Given the description of an element on the screen output the (x, y) to click on. 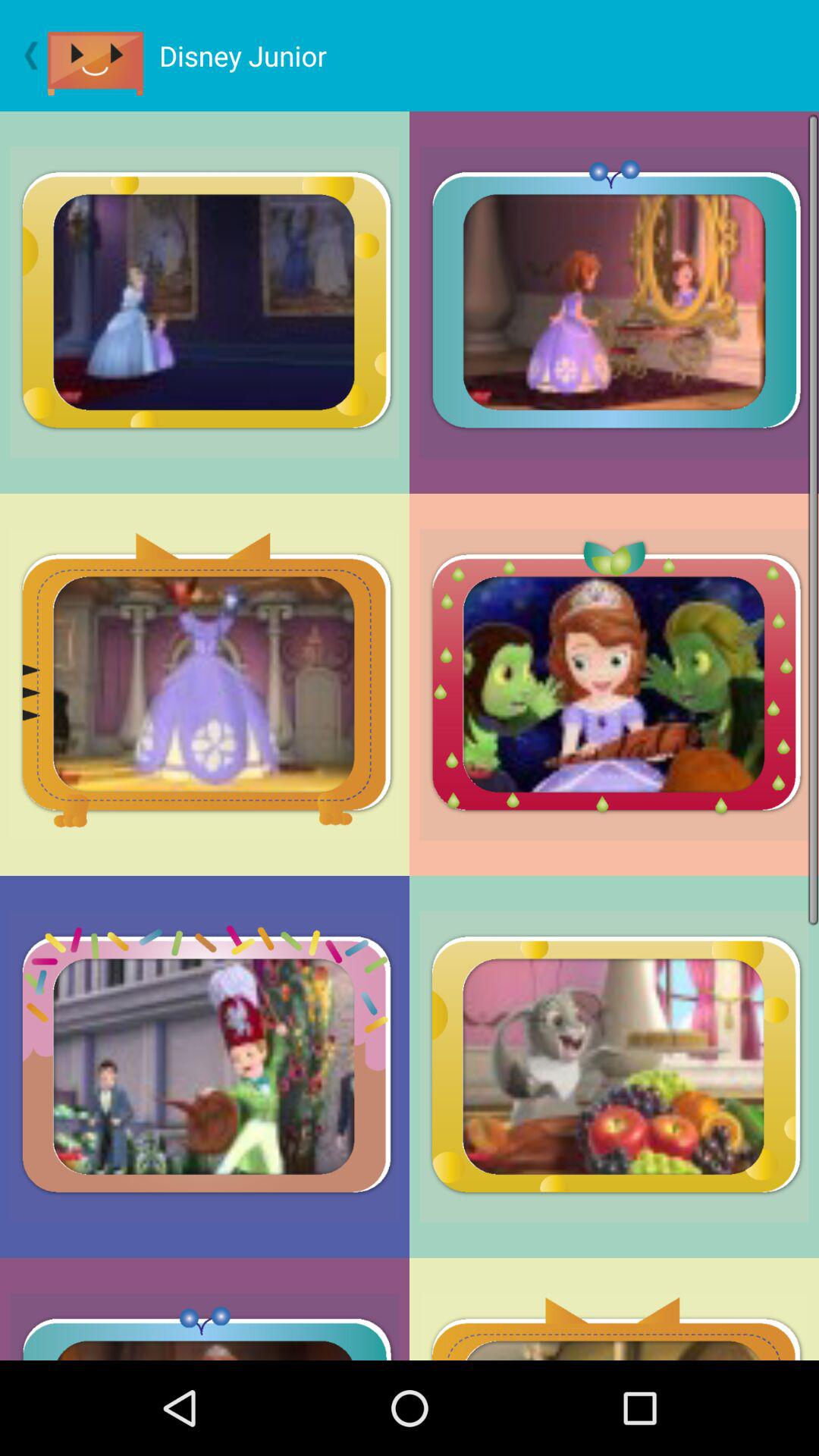
tap item next to the disney junior icon (103, 55)
